Given the description of an element on the screen output the (x, y) to click on. 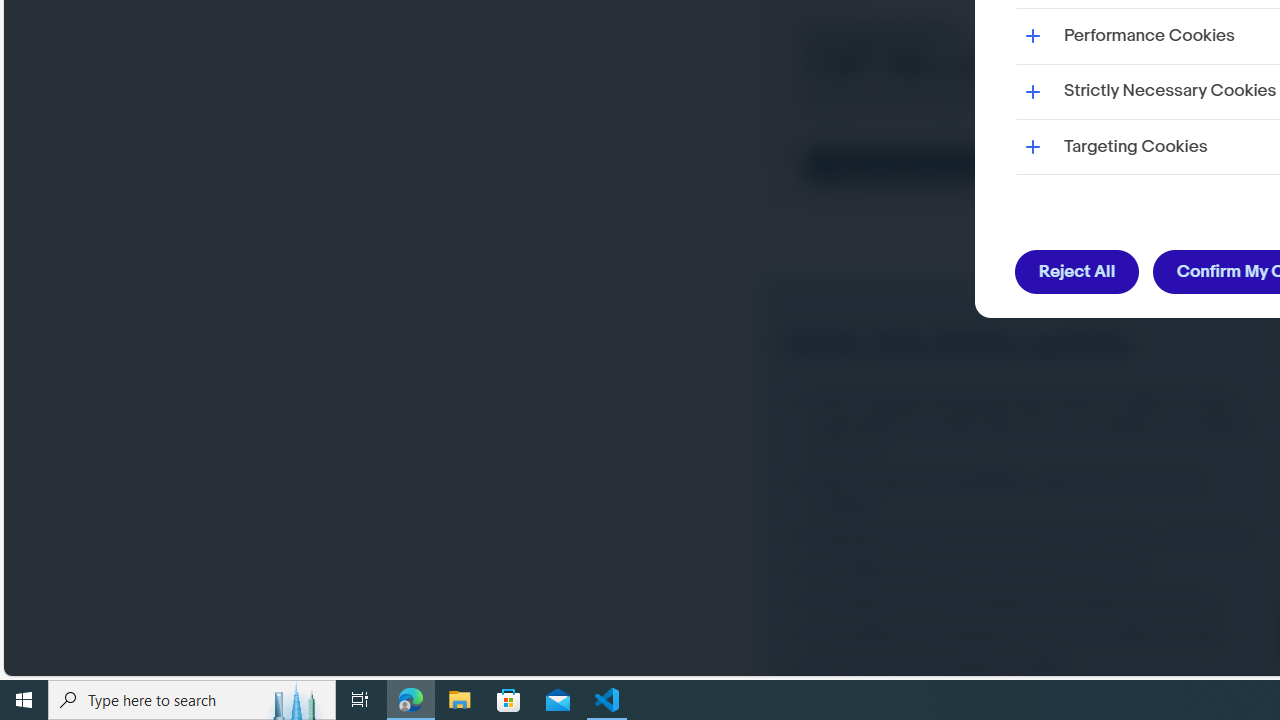
Venmo is now accepted on eBay (1024, 665)
Empower your advertising with more metrics and control (1024, 537)
More marketing capabilities, right from your Active Listings (1024, 492)
Say hello to the new desktop messaging experience (1024, 601)
A simplified, consolidated view of your eBay earnings (1024, 632)
Get eBay product sales research on the go (1024, 569)
Reject All (1077, 272)
